Given the description of an element on the screen output the (x, y) to click on. 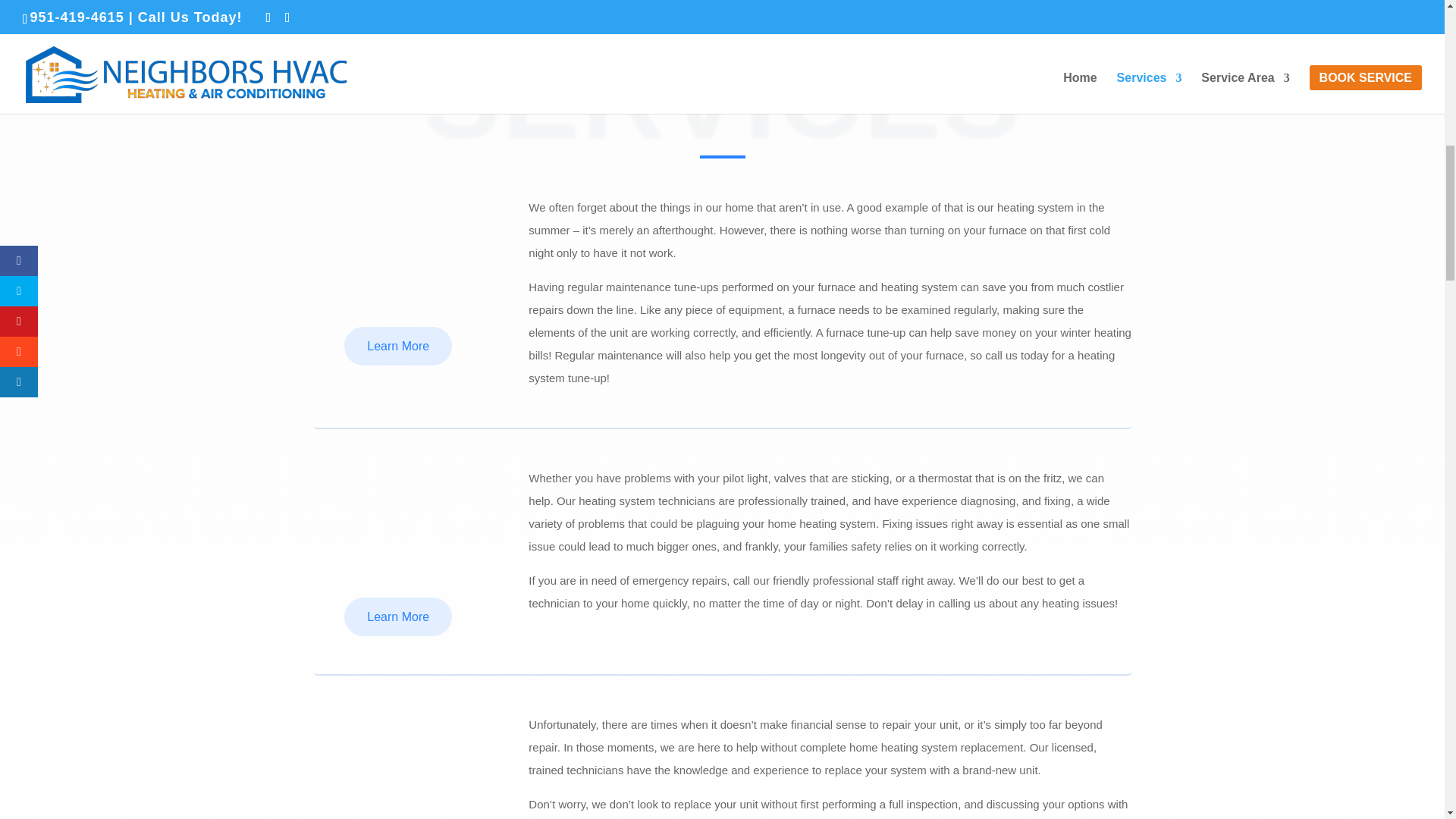
Learn More (397, 616)
Learn More (397, 345)
